Given the description of an element on the screen output the (x, y) to click on. 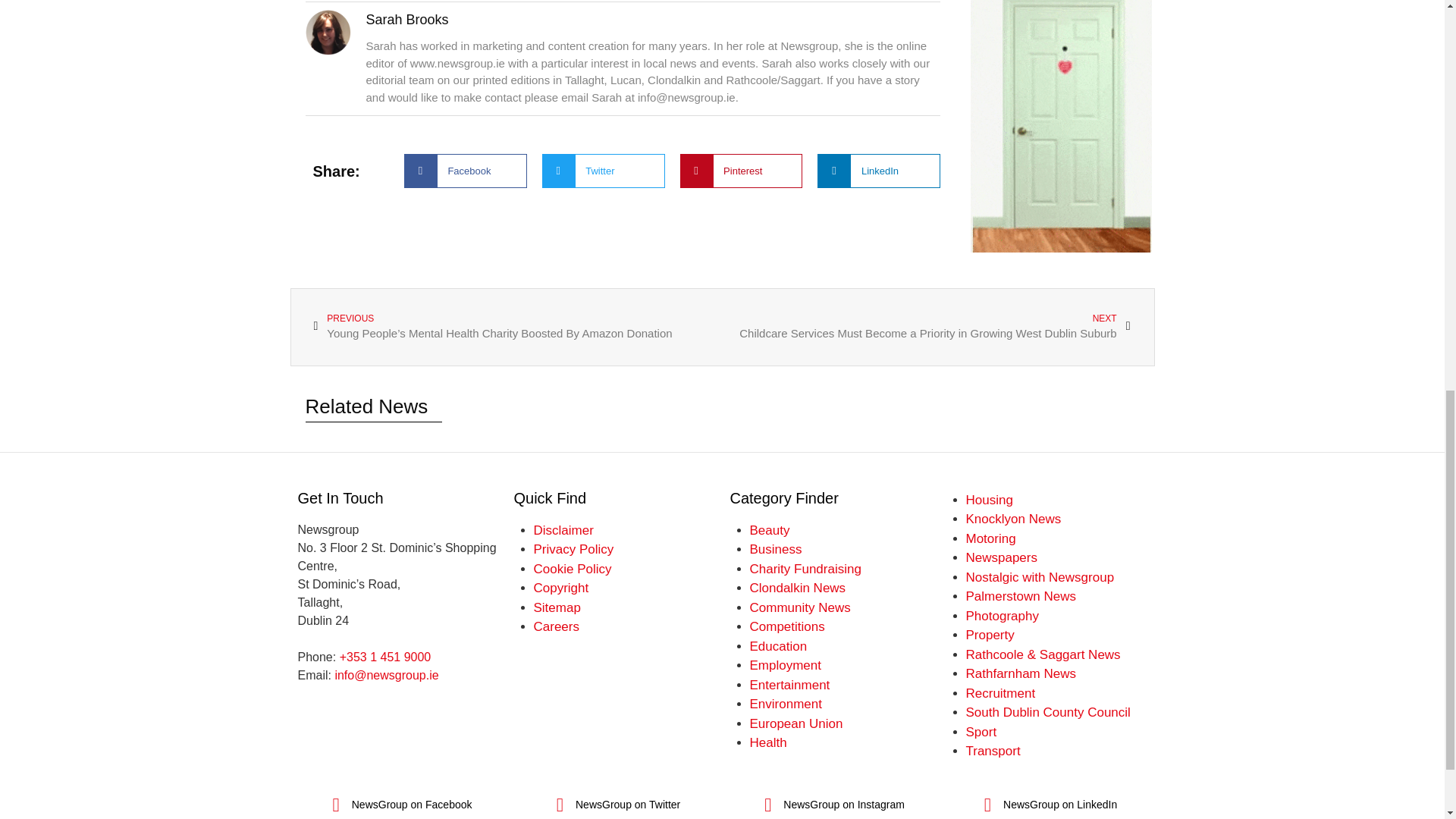
Scroll back to top (1406, 720)
